Given the description of an element on the screen output the (x, y) to click on. 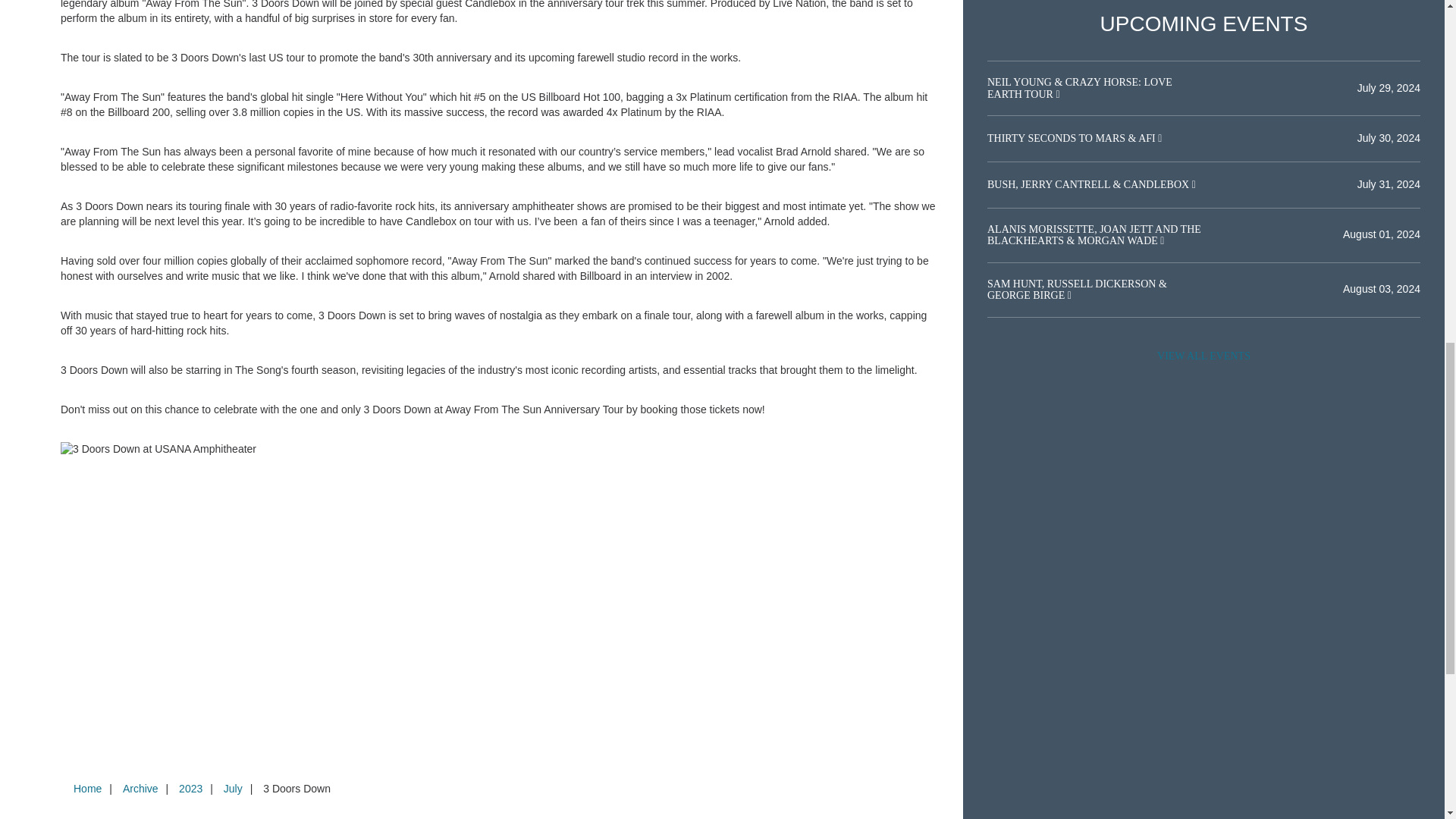
2023 (190, 788)
Home (87, 788)
Archive (140, 788)
July (232, 788)
3 Doors Down at USANA Amphitheater tickets (500, 449)
VIEW ALL EVENTS (1203, 356)
